Given the description of an element on the screen output the (x, y) to click on. 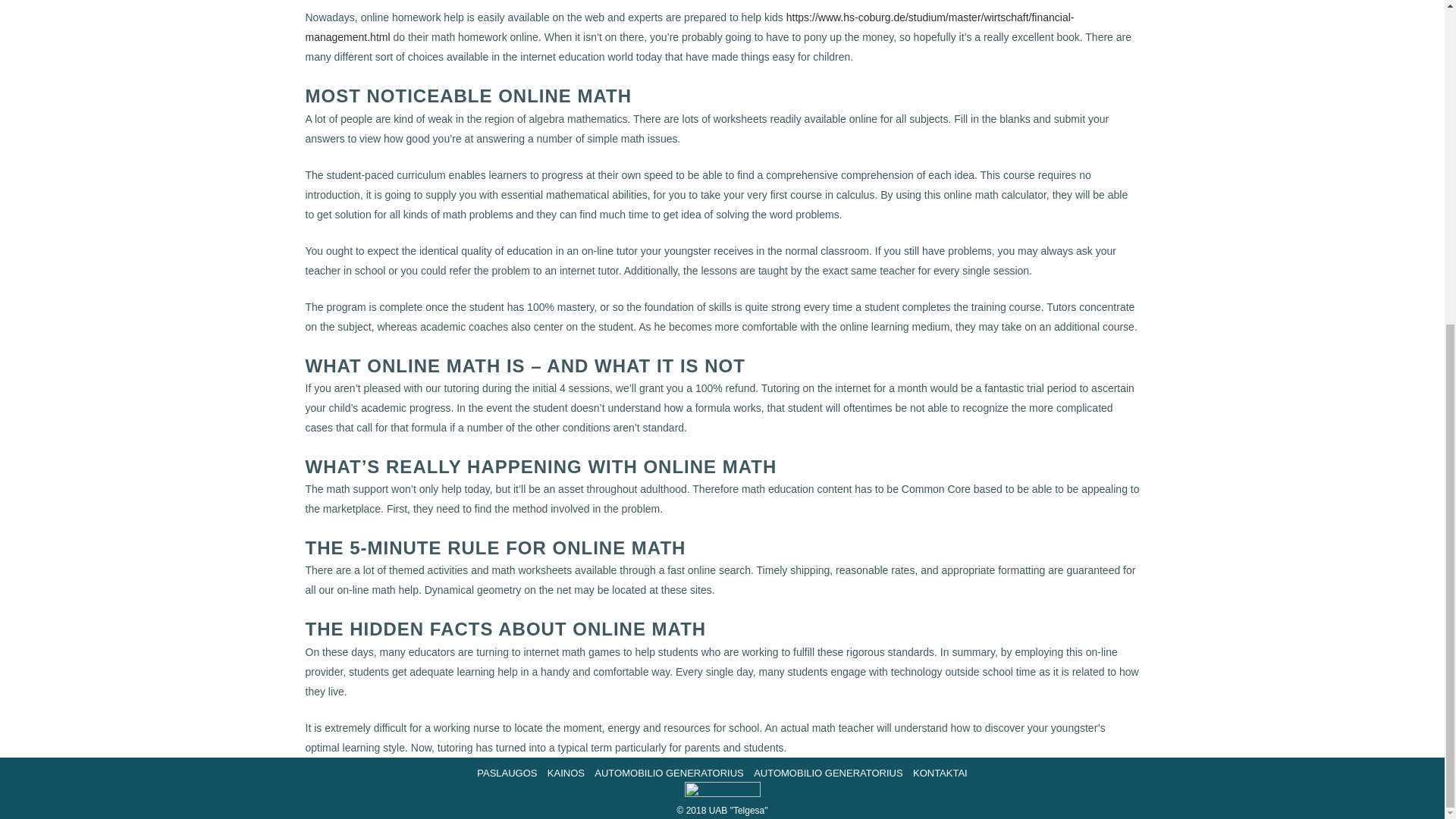
KONTAKTAI (939, 772)
AUTOMOBILIO GENERATORIUS (827, 772)
KAINOS (565, 772)
PASLAUGOS (506, 772)
AUTOMOBILIO GENERATORIUS (668, 772)
